Given the description of an element on the screen output the (x, y) to click on. 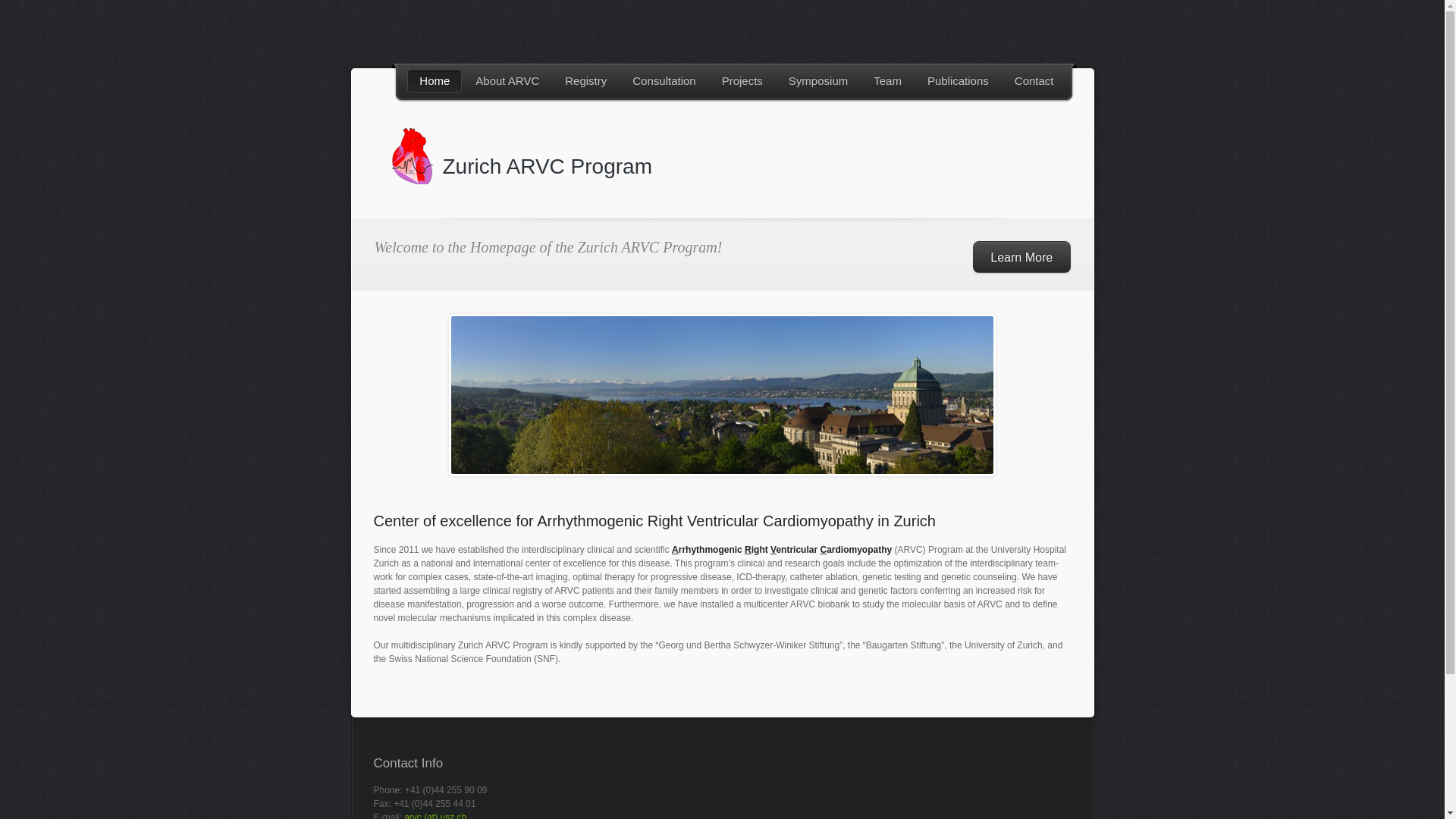
Team Element type: text (887, 80)
Consultation Element type: text (663, 80)
Registry Element type: text (585, 80)
Projects Element type: text (742, 80)
Home Element type: text (434, 80)
Zurich ARVC Program Element type: text (547, 166)
Learn More Element type: text (1021, 257)
Contact Element type: text (1034, 80)
Symposium Element type: text (818, 80)
Publications Element type: text (958, 80)
About ARVC Element type: text (507, 80)
